Given the description of an element on the screen output the (x, y) to click on. 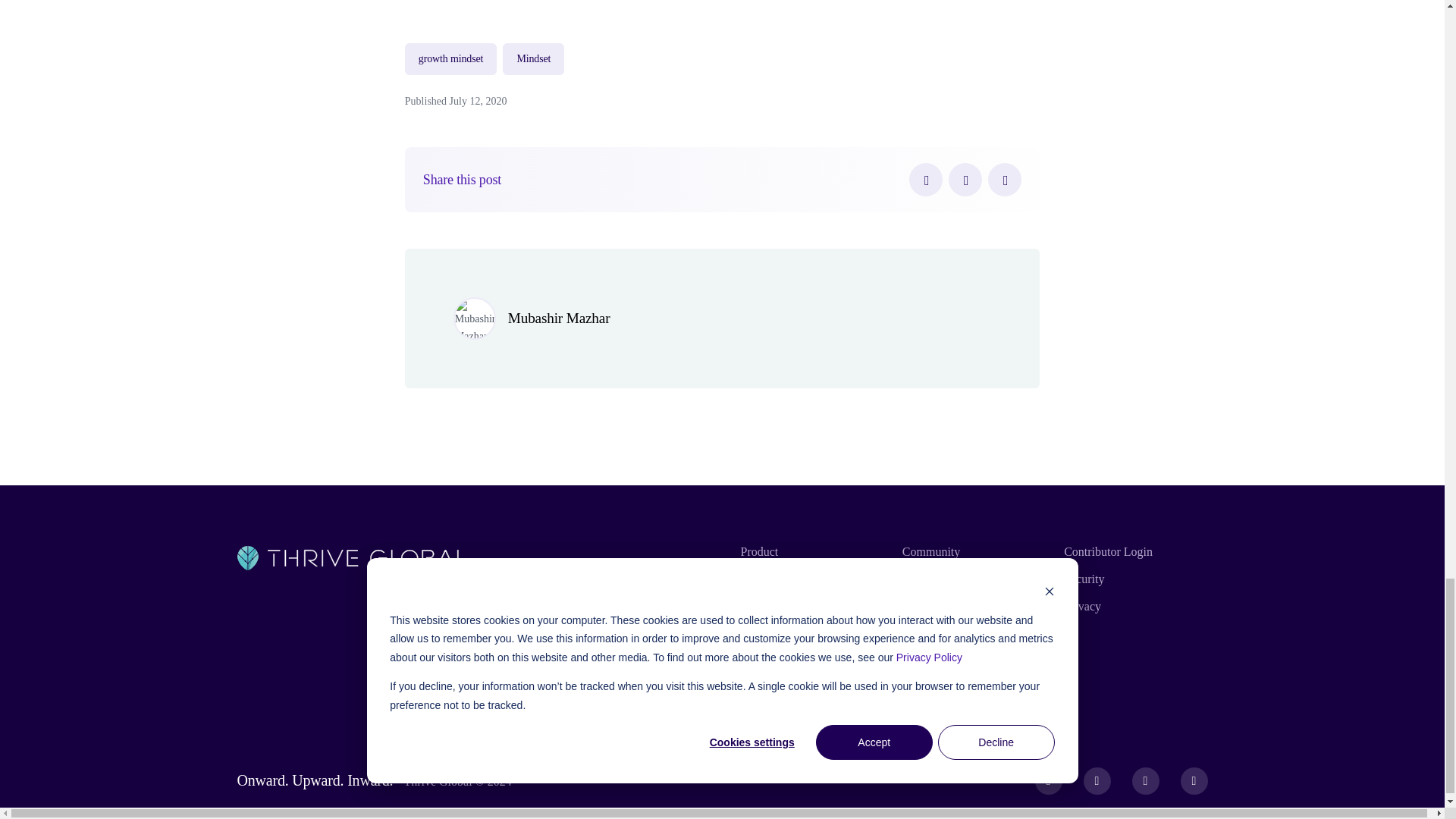
Mubashir Mazhar (559, 317)
Twitter (965, 179)
LinkedIn (1005, 179)
Facebook (925, 179)
